Given the description of an element on the screen output the (x, y) to click on. 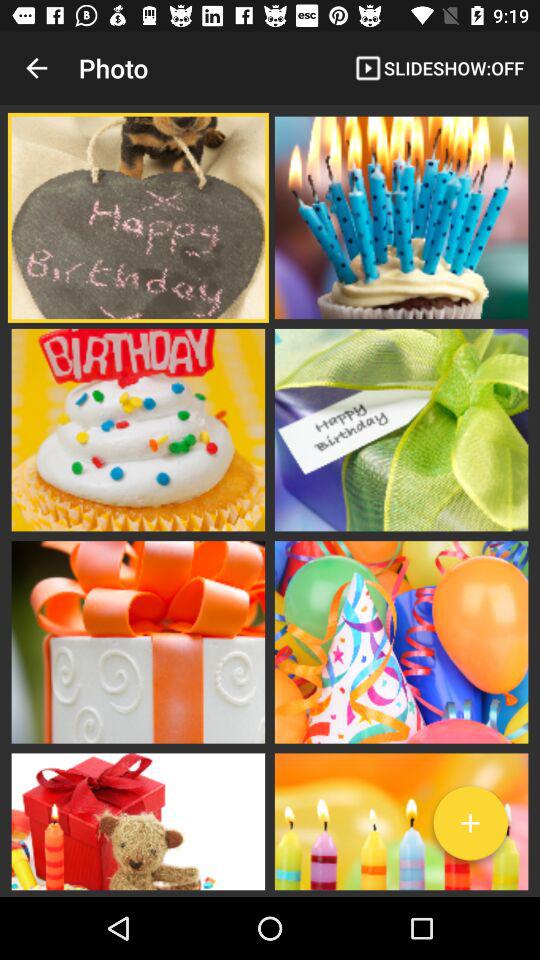
open the app to the left of the photo (36, 68)
